Given the description of an element on the screen output the (x, y) to click on. 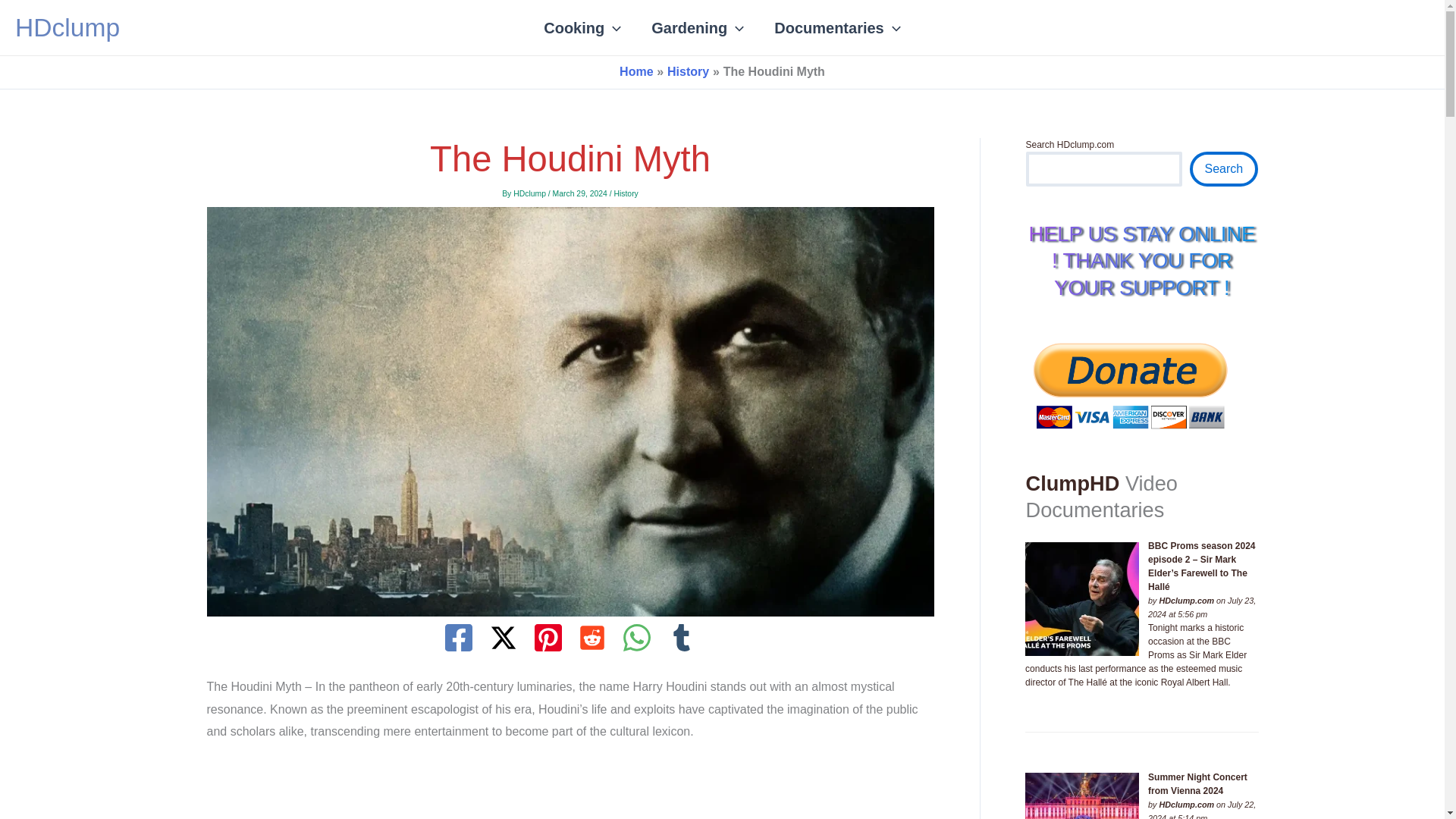
PayPal - The safer, easier way to pay online! (1129, 383)
Cooking (582, 27)
View all posts by HDclump (530, 193)
HDclump (66, 27)
clumphd.com (1186, 600)
Summer Night Concert from Vienna 2024 (1081, 796)
